Given the description of an element on the screen output the (x, y) to click on. 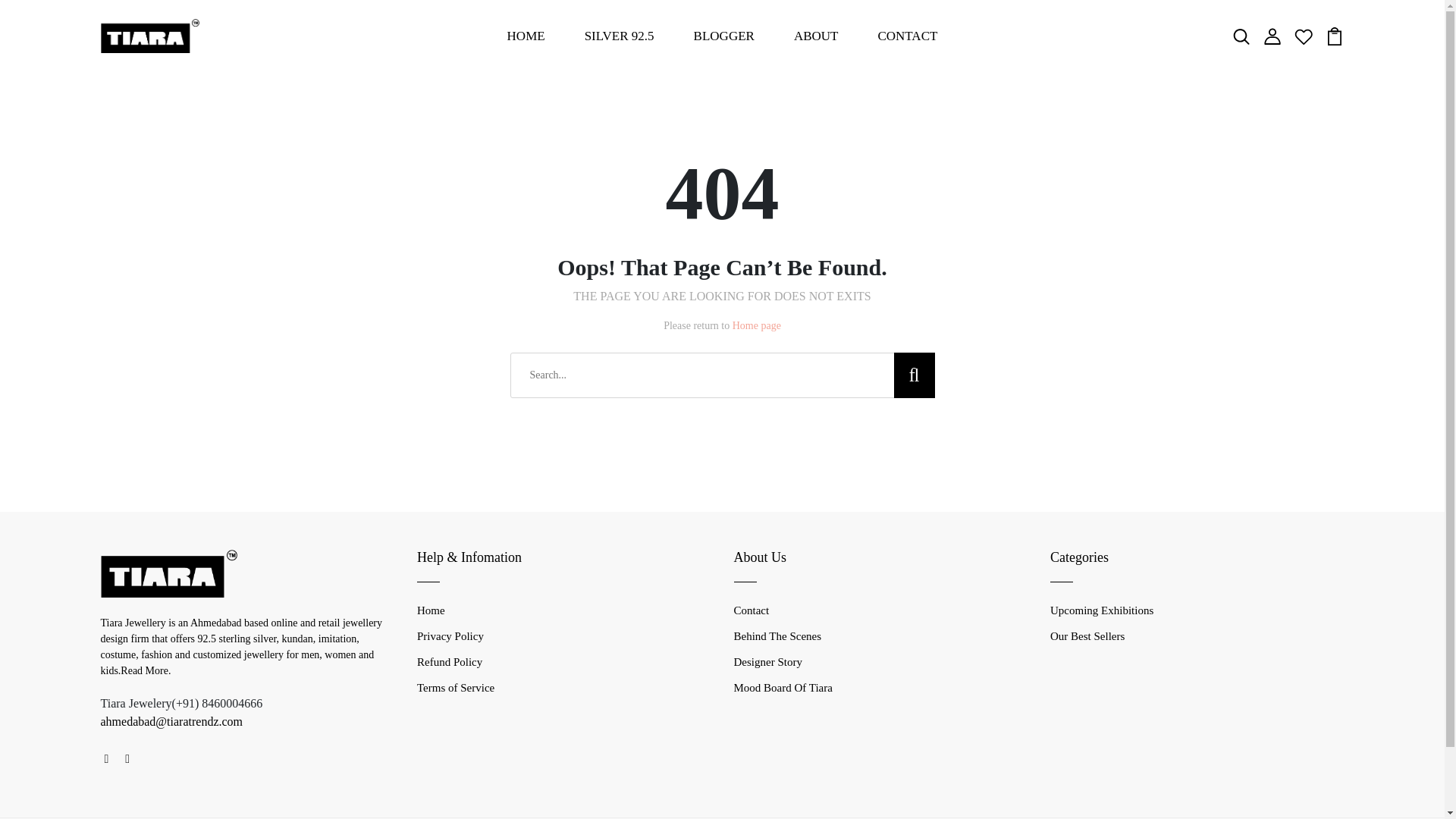
ABOUT (815, 36)
BLOGGER (723, 36)
ABOUT (815, 36)
HOME (525, 36)
BLOGGER (723, 36)
CONTACT (906, 36)
HOME (525, 36)
SILVER 92.5 (619, 36)
SILVER 92.5 (619, 36)
CONTACT (906, 36)
